Given the description of an element on the screen output the (x, y) to click on. 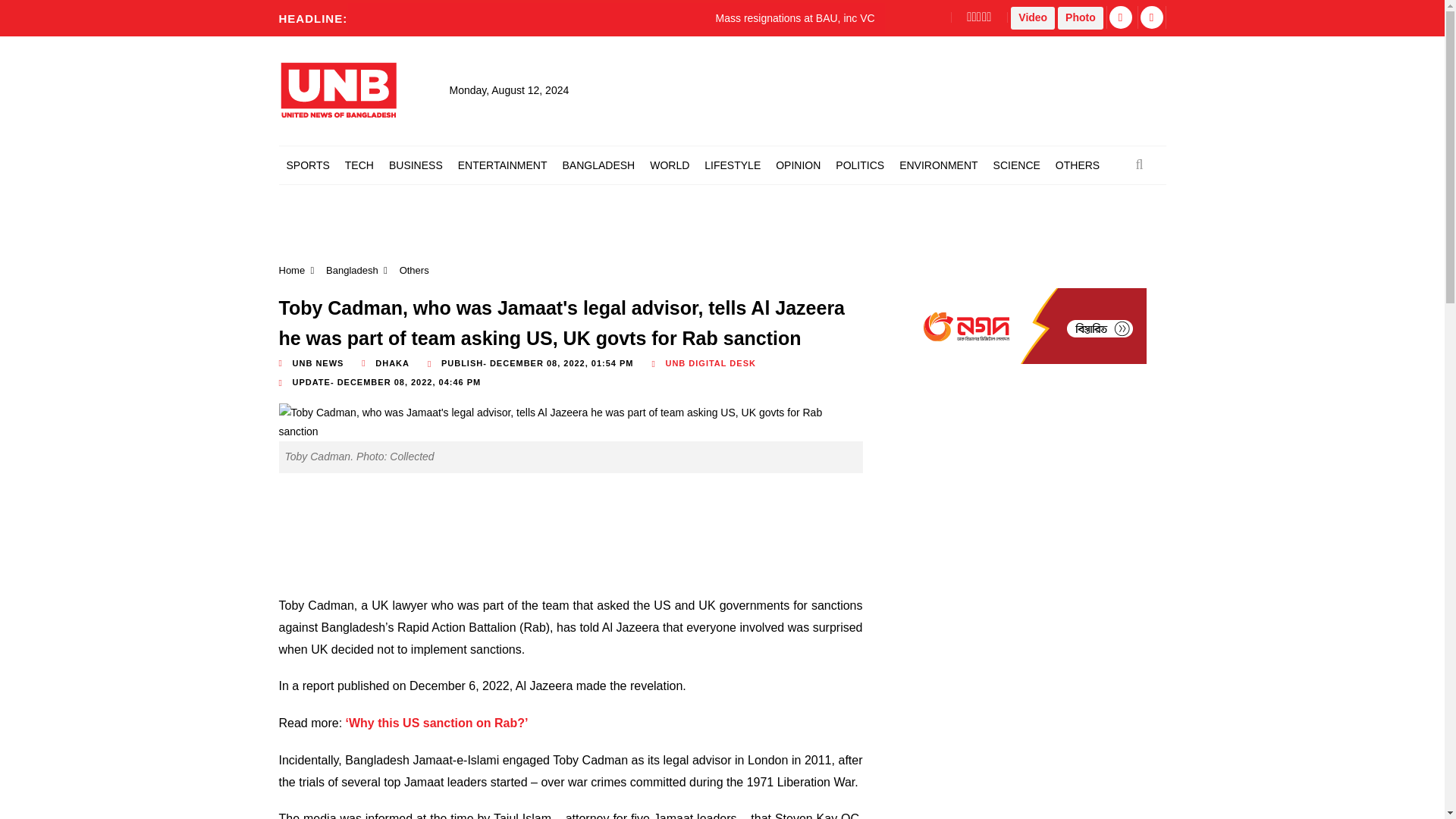
TECH (359, 165)
BANGLADESH (598, 165)
ENTERTAINMENT (501, 165)
Advertisement (552, 537)
SPORTS (308, 165)
Photo (1080, 17)
Video (1031, 17)
Video (1032, 17)
BUSINESS (415, 165)
Photo (1080, 17)
